Given the description of an element on the screen output the (x, y) to click on. 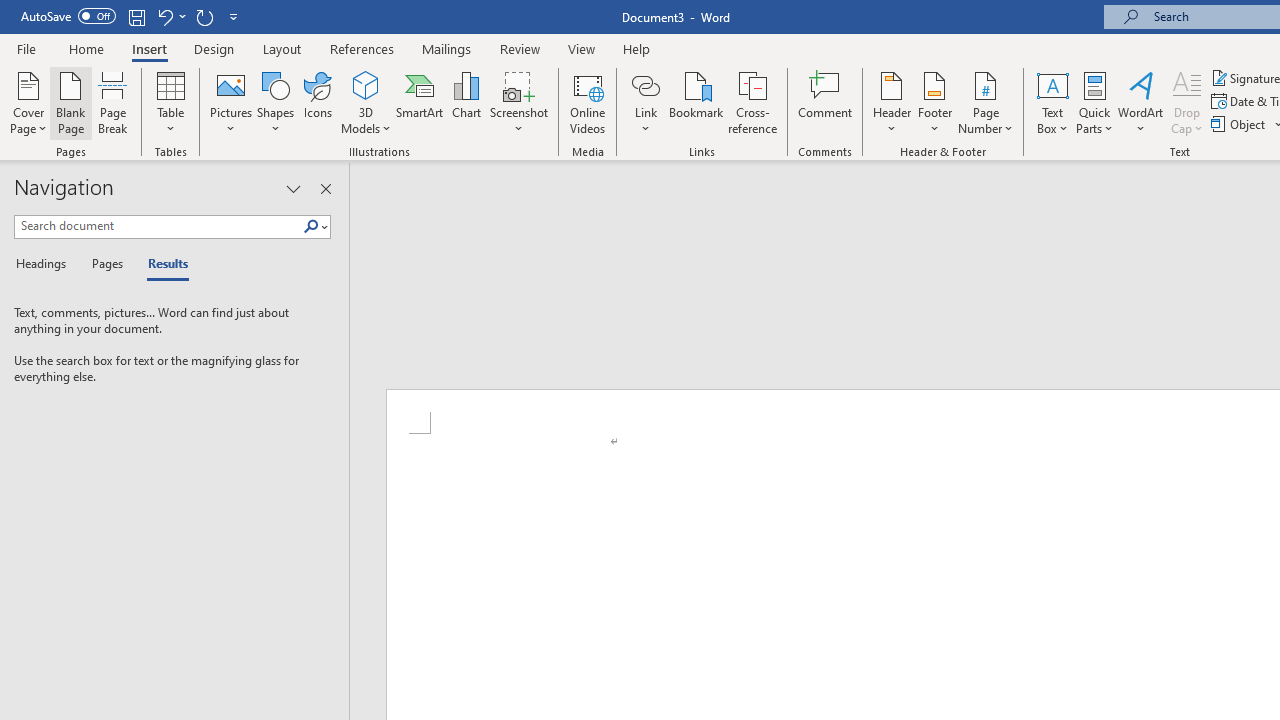
Bookmark... (695, 102)
Repeat New Page (204, 15)
3D Models (366, 84)
Online Videos... (588, 102)
Drop Cap (1187, 102)
Link (645, 102)
Footer (934, 102)
Chart... (466, 102)
